Given the description of an element on the screen output the (x, y) to click on. 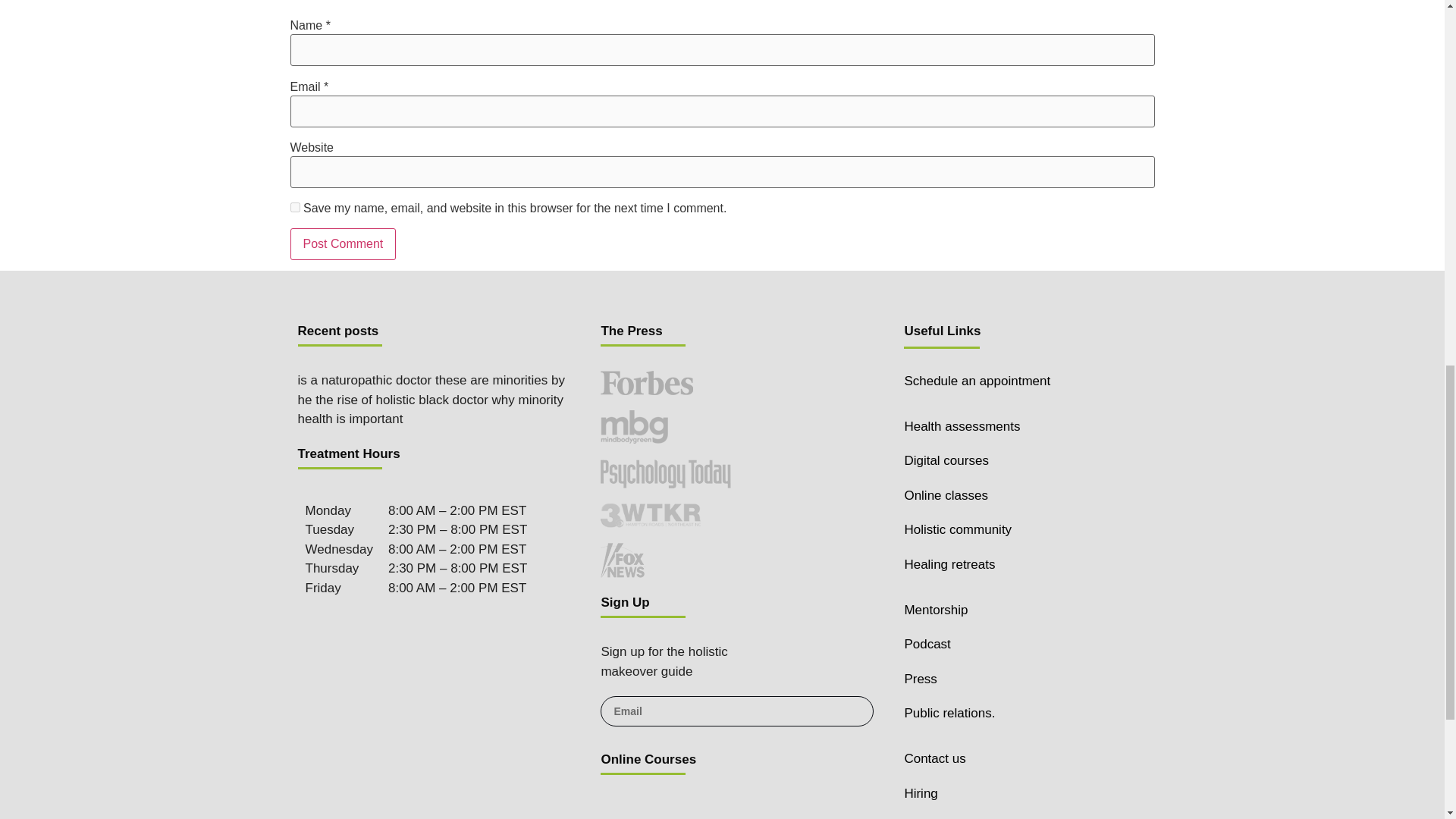
Press (920, 678)
Post Comment (342, 244)
Schedule an appointment (976, 380)
Healing retreats (949, 564)
Online classes (946, 495)
Mentorship (936, 609)
yes (294, 207)
Post Comment (342, 244)
Digital courses (946, 460)
Contact us (934, 758)
Online Courses (647, 759)
Holistic community (957, 529)
Health assessments (962, 426)
Public relations. (949, 712)
Podcast (927, 644)
